Given the description of an element on the screen output the (x, y) to click on. 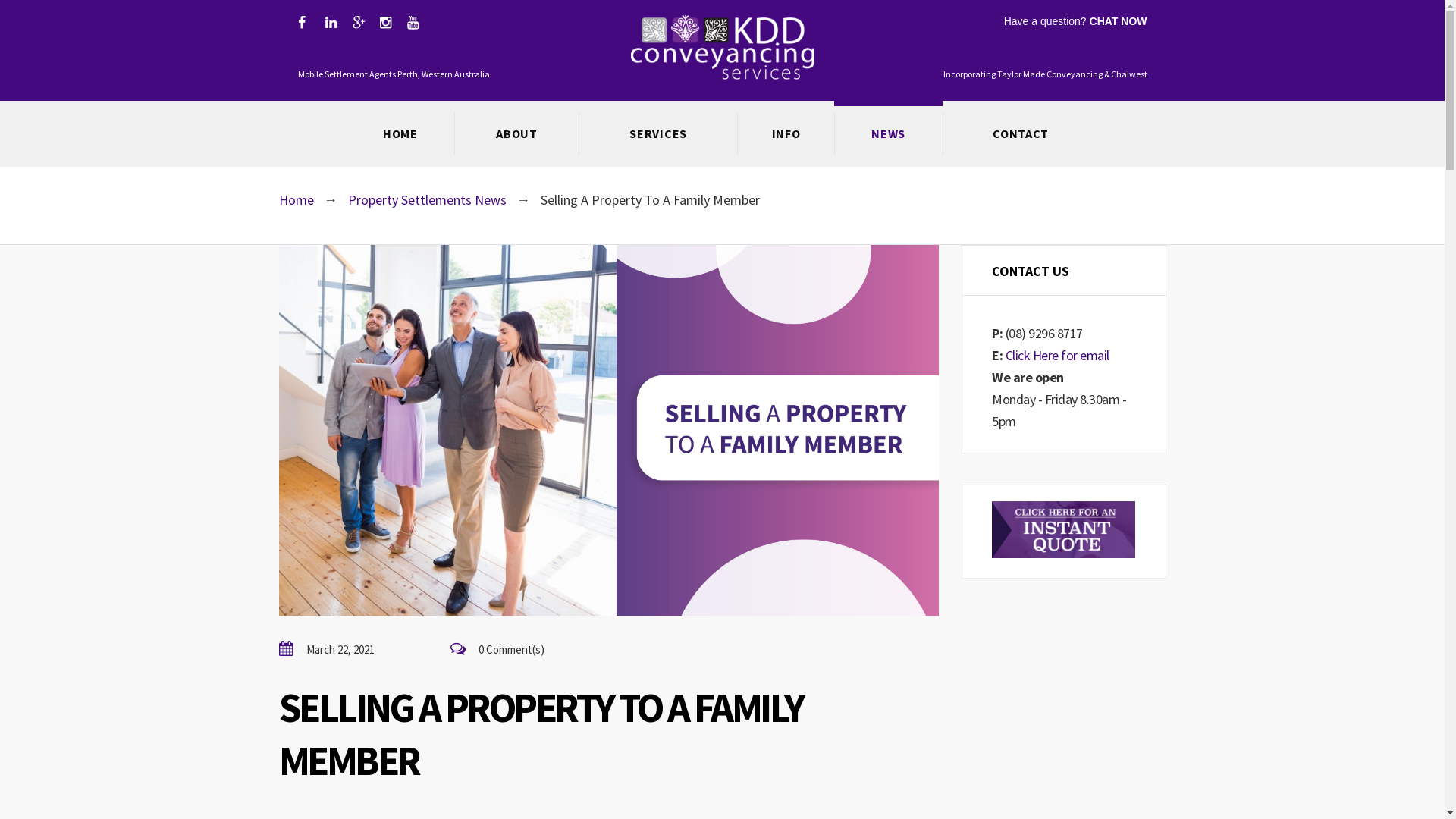
ABOUT Element type: text (516, 133)
INFO Element type: text (785, 133)
Home Element type: text (296, 199)
HOME Element type: text (399, 133)
SERVICES Element type: text (657, 133)
Property Settlements News Element type: text (426, 199)
0 Element type: text (497, 648)
March 22, 2021 Element type: text (327, 649)
CONTACT Element type: text (1020, 133)
NEWS Element type: text (888, 133)
Click Here for email Element type: text (1057, 355)
Selling A Property To A Family Member Element type: hover (608, 429)
